Given the description of an element on the screen output the (x, y) to click on. 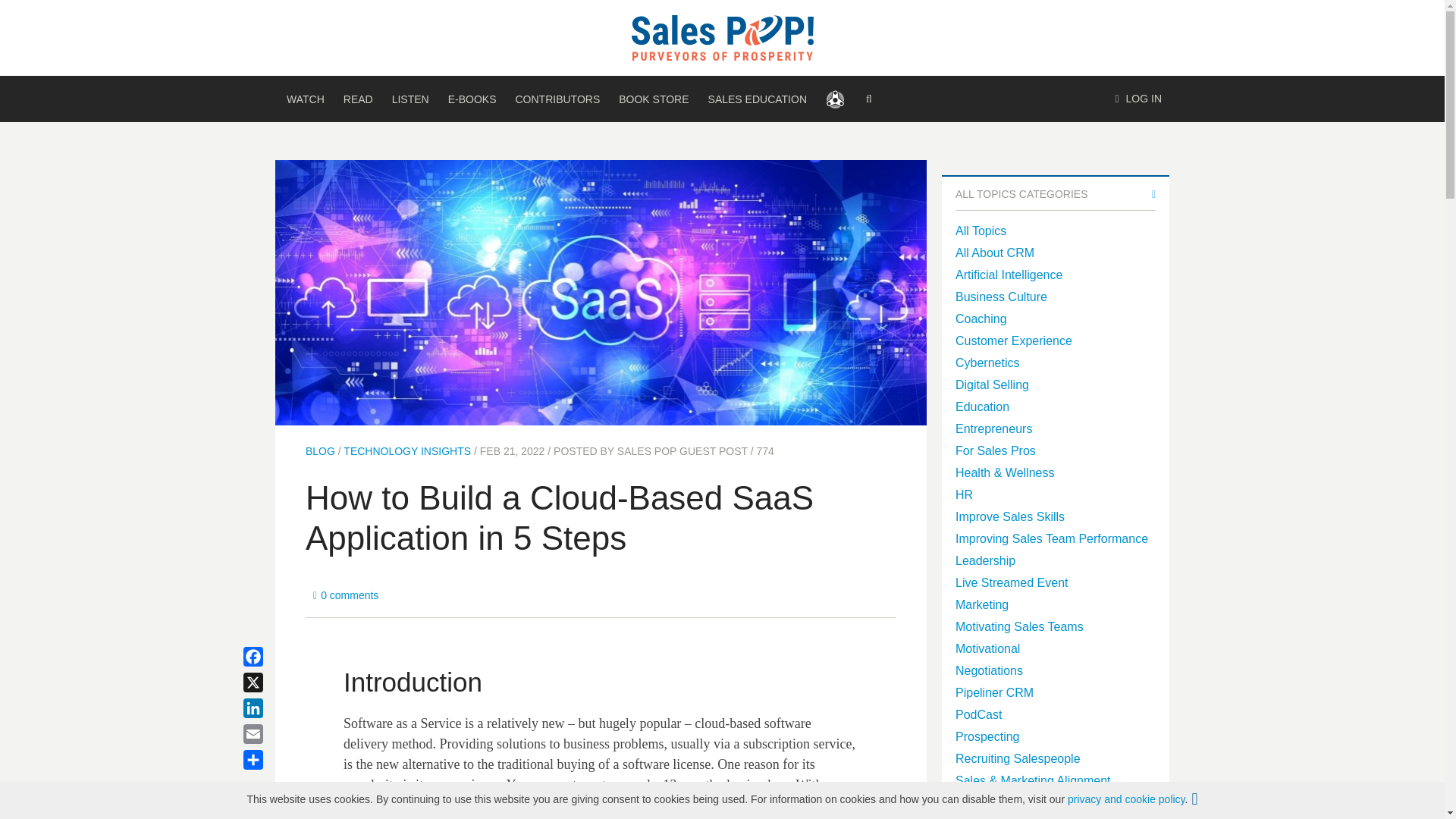
0 comments (345, 595)
READ (358, 99)
Facebook (271, 656)
LOG IN (1138, 99)
LISTEN (410, 99)
BOOK STORE (653, 99)
BLOG (319, 451)
X (271, 682)
CONTRIBUTORS (556, 99)
WATCH (305, 99)
Share (271, 759)
Email (271, 733)
SALES EDUCATION (756, 99)
LinkedIn (271, 708)
X (271, 682)
